Given the description of an element on the screen output the (x, y) to click on. 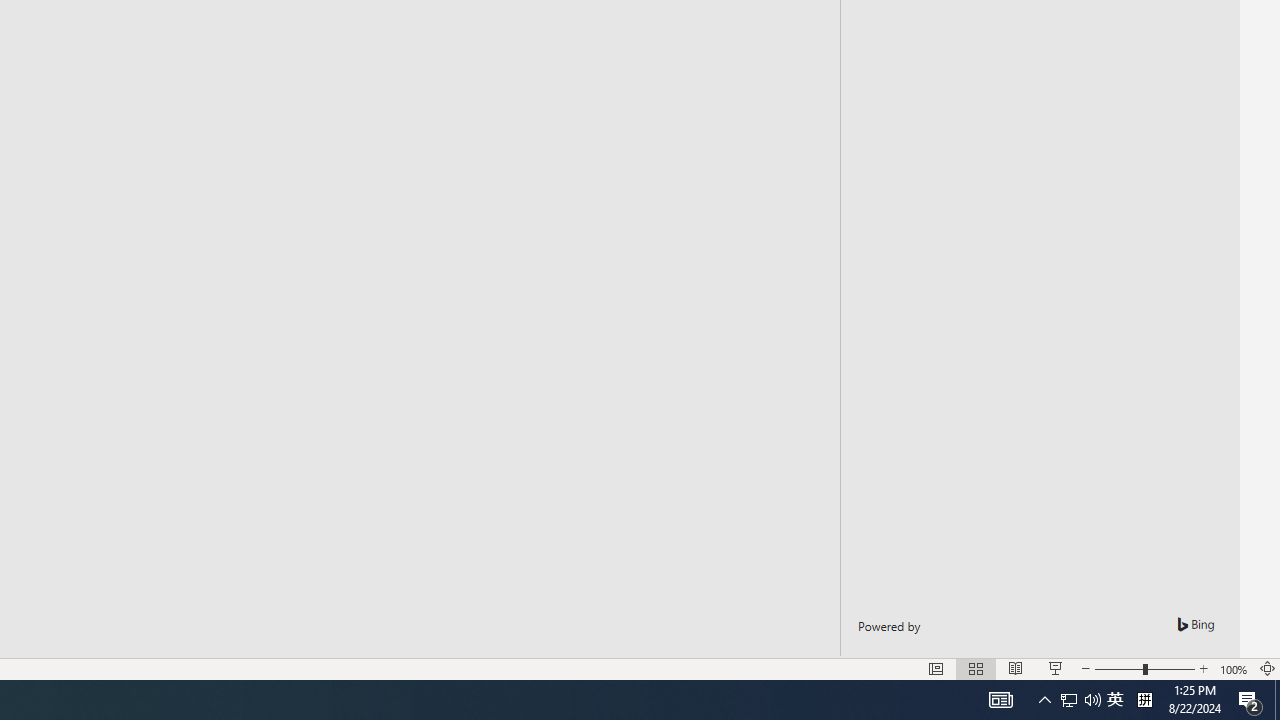
Zoom 100% (1234, 668)
